Given the description of an element on the screen output the (x, y) to click on. 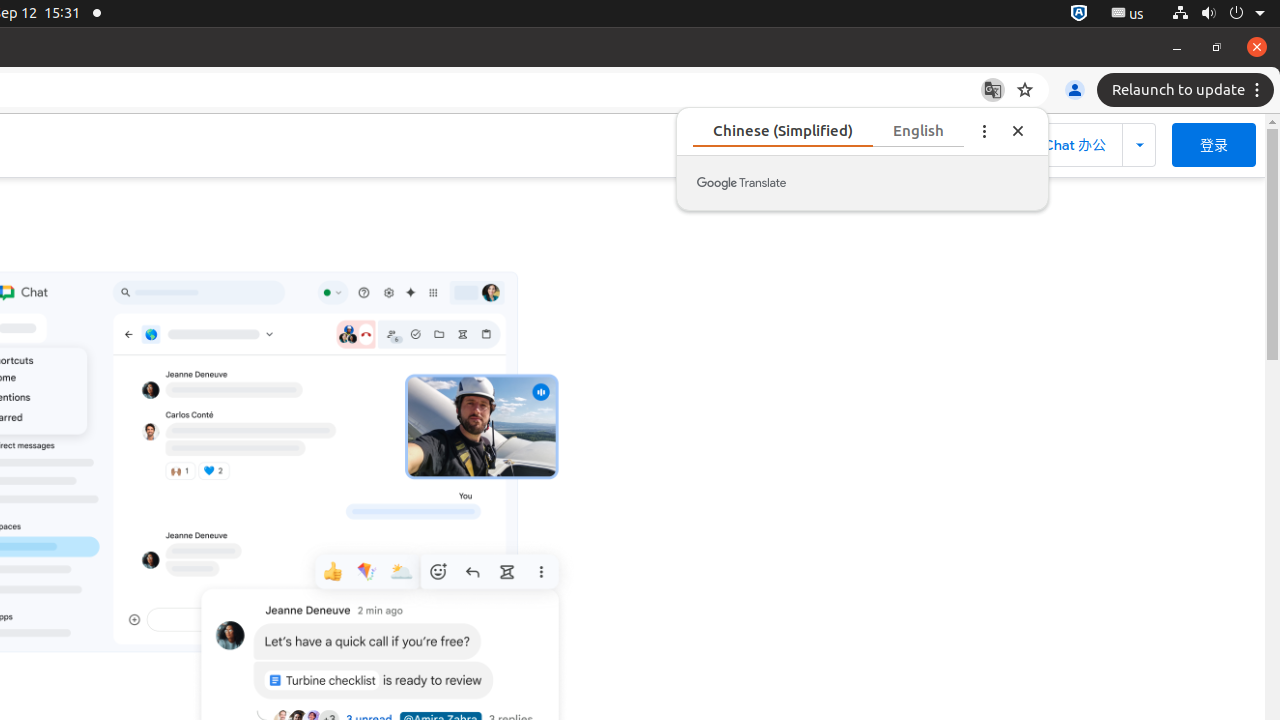
Relaunch to update Element type: push-button (1188, 90)
Translate options Element type: push-button (984, 130)
You Element type: push-button (1075, 90)
Chinese (Simplified) Element type: page-tab (783, 130)
:1.21/StatusNotifierItem Element type: menu (1127, 13)
